Given the description of an element on the screen output the (x, y) to click on. 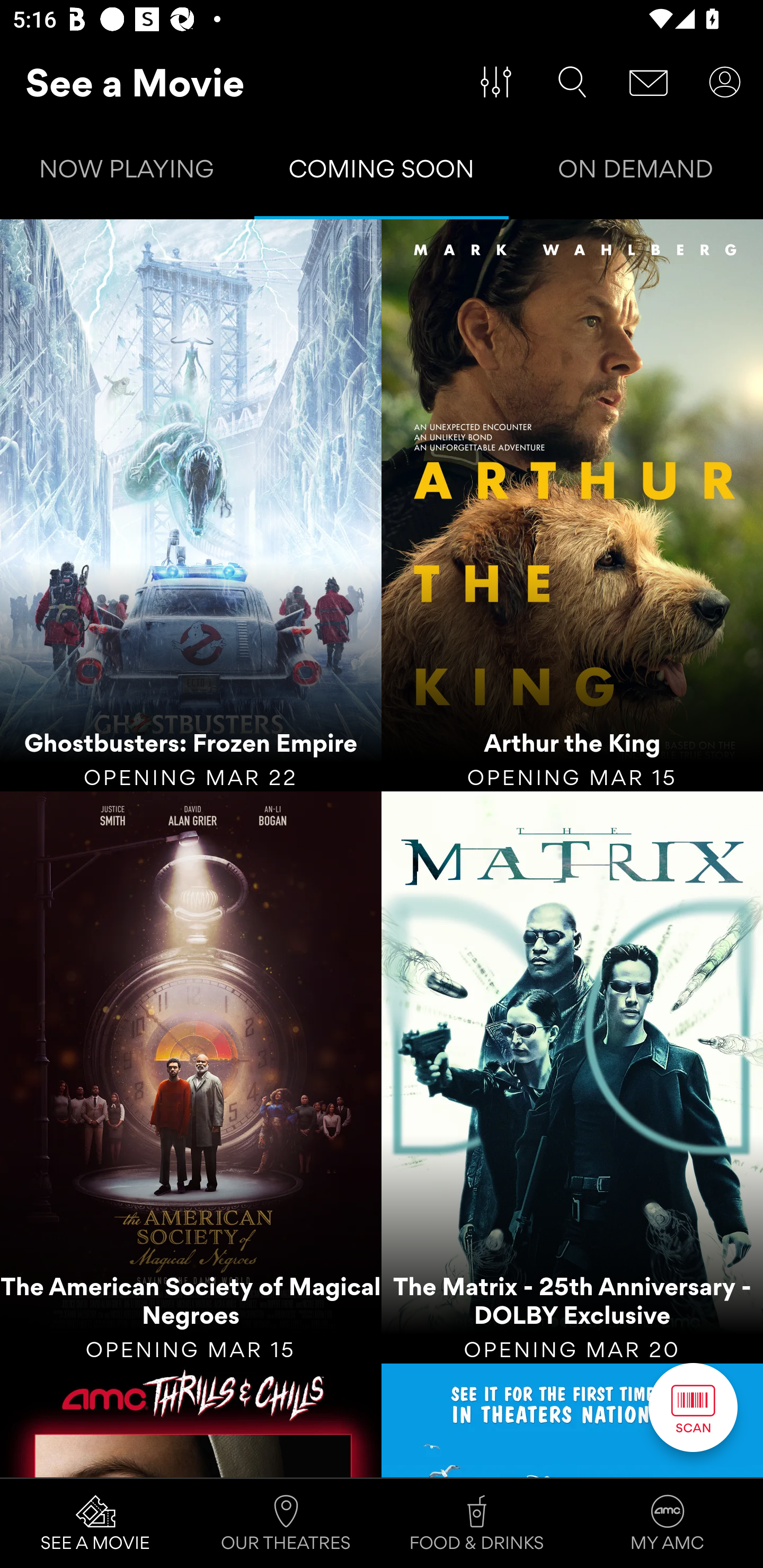
Filter Movies (495, 82)
Search (572, 82)
Message Center (648, 82)
User Account (724, 82)
NOW PLAYING
Tab 1 of 3 (127, 173)
COMING SOON
Tab 2 of 3 (381, 173)
ON DEMAND
Tab 3 of 3 (635, 173)
Ghostbusters: Frozen Empire
OPENING MAR 22 (190, 505)
Arthur the King
OPENING MAR 15 (572, 505)
Scan Button (692, 1406)
SEE A MOVIE
Tab 1 of 4 (95, 1523)
OUR THEATRES
Tab 2 of 4 (285, 1523)
FOOD & DRINKS
Tab 3 of 4 (476, 1523)
MY AMC
Tab 4 of 4 (667, 1523)
